Given the description of an element on the screen output the (x, y) to click on. 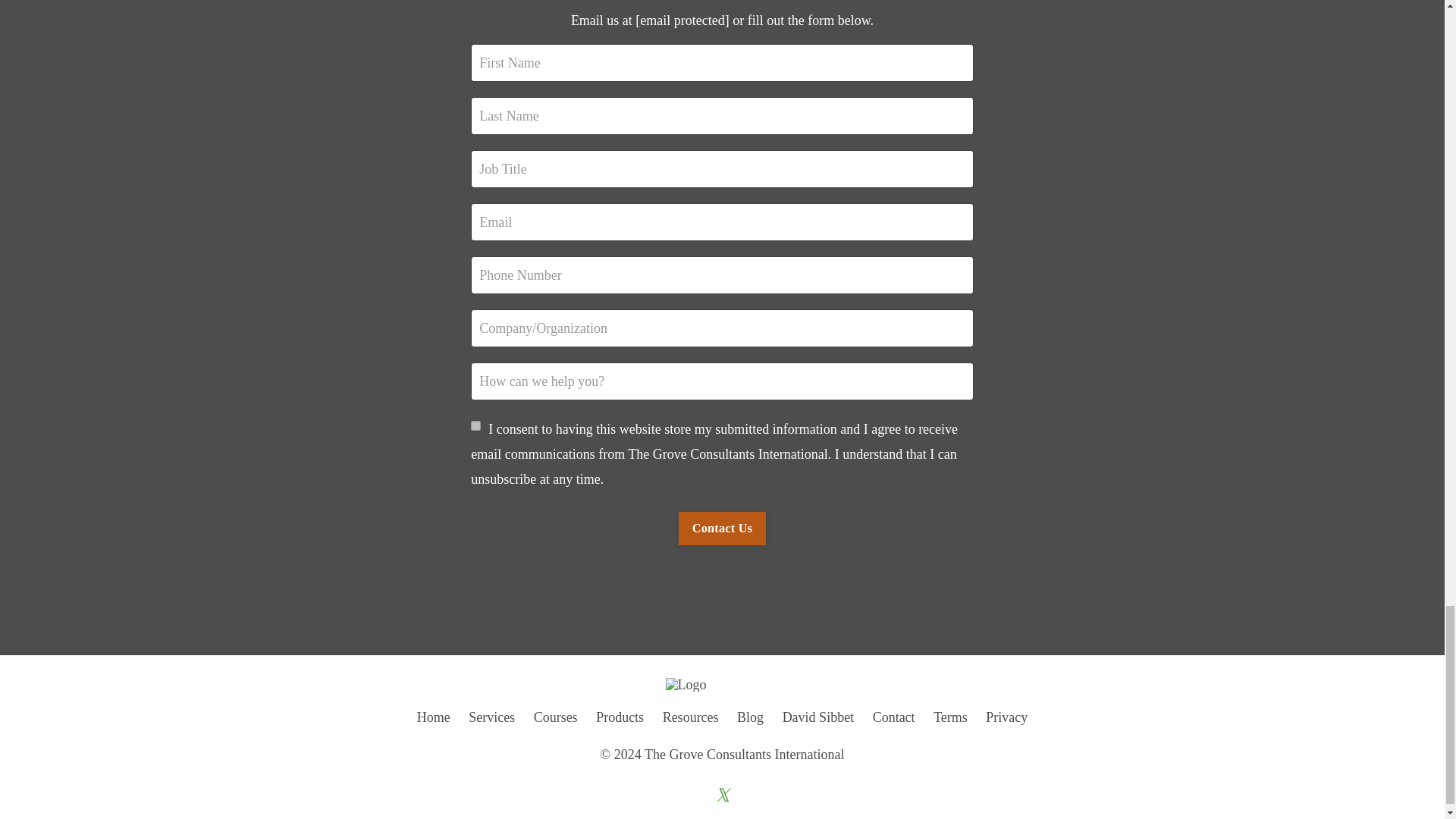
Home (432, 717)
1 (475, 425)
Services (491, 717)
Contact Us (721, 528)
